Given the description of an element on the screen output the (x, y) to click on. 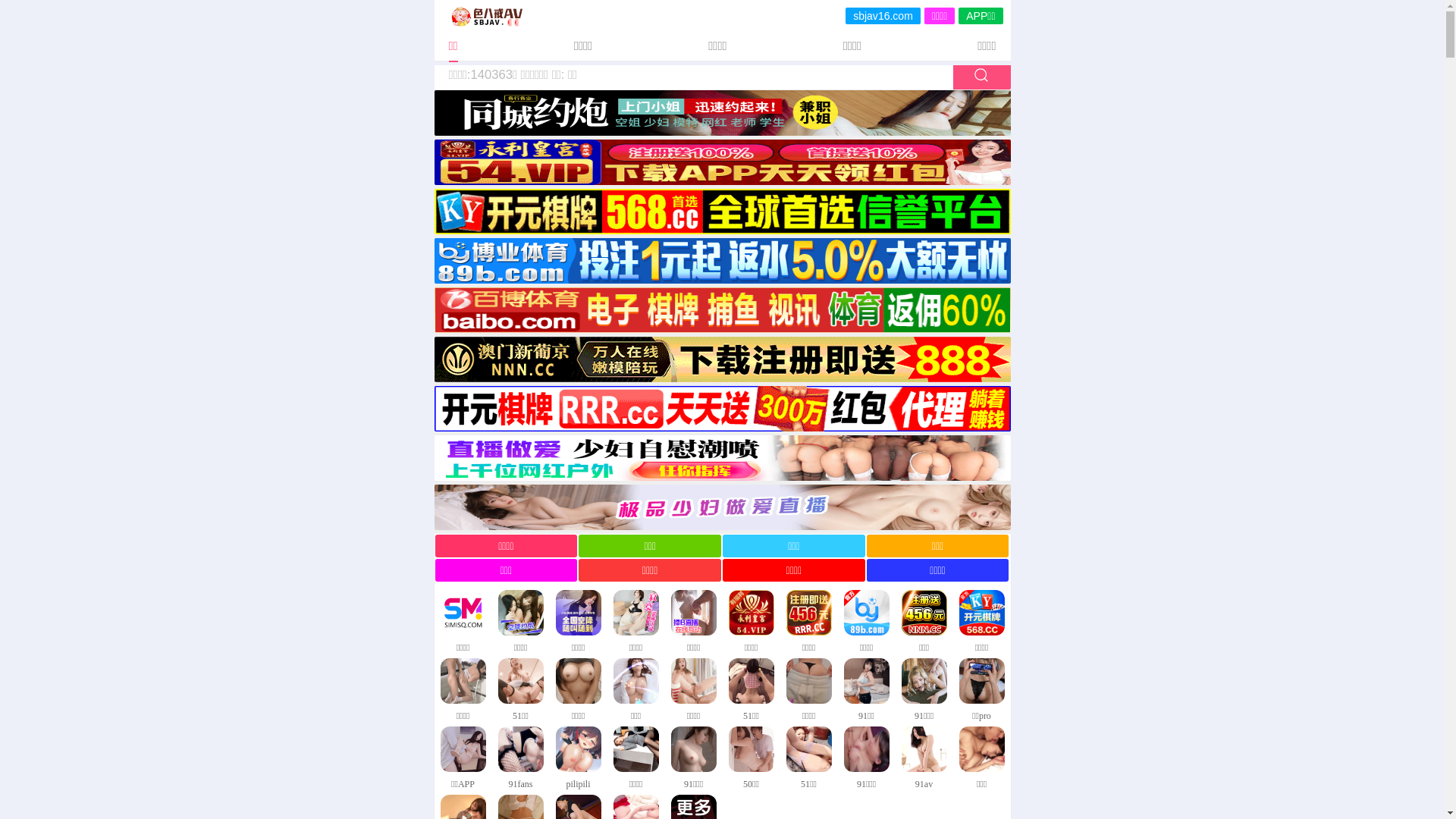
91fans Element type: text (520, 757)
91av Element type: text (923, 757)
pilipili Element type: text (577, 757)
sbjav38.com Element type: text (882, 15)
